Given the description of an element on the screen output the (x, y) to click on. 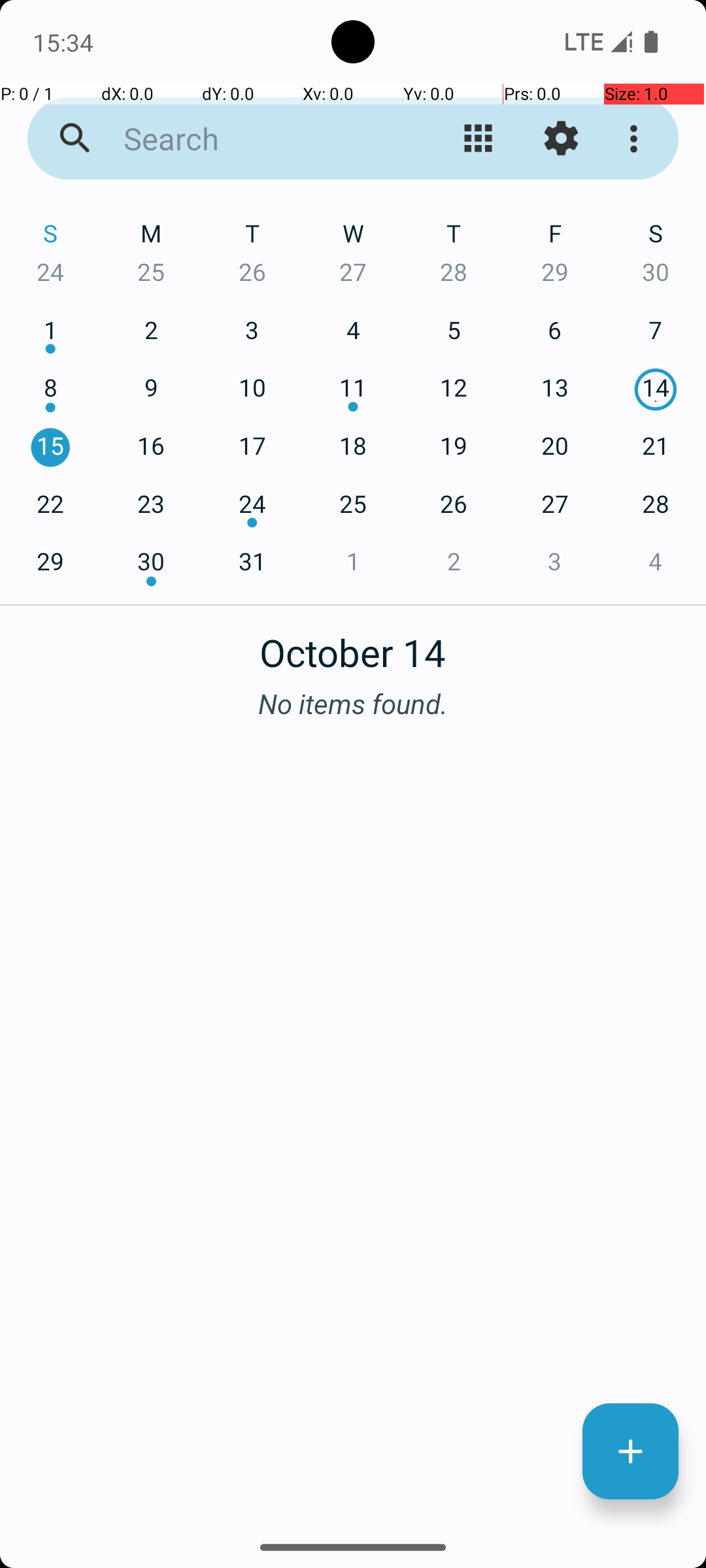
October 14 Element type: android.widget.TextView (352, 644)
